Given the description of an element on the screen output the (x, y) to click on. 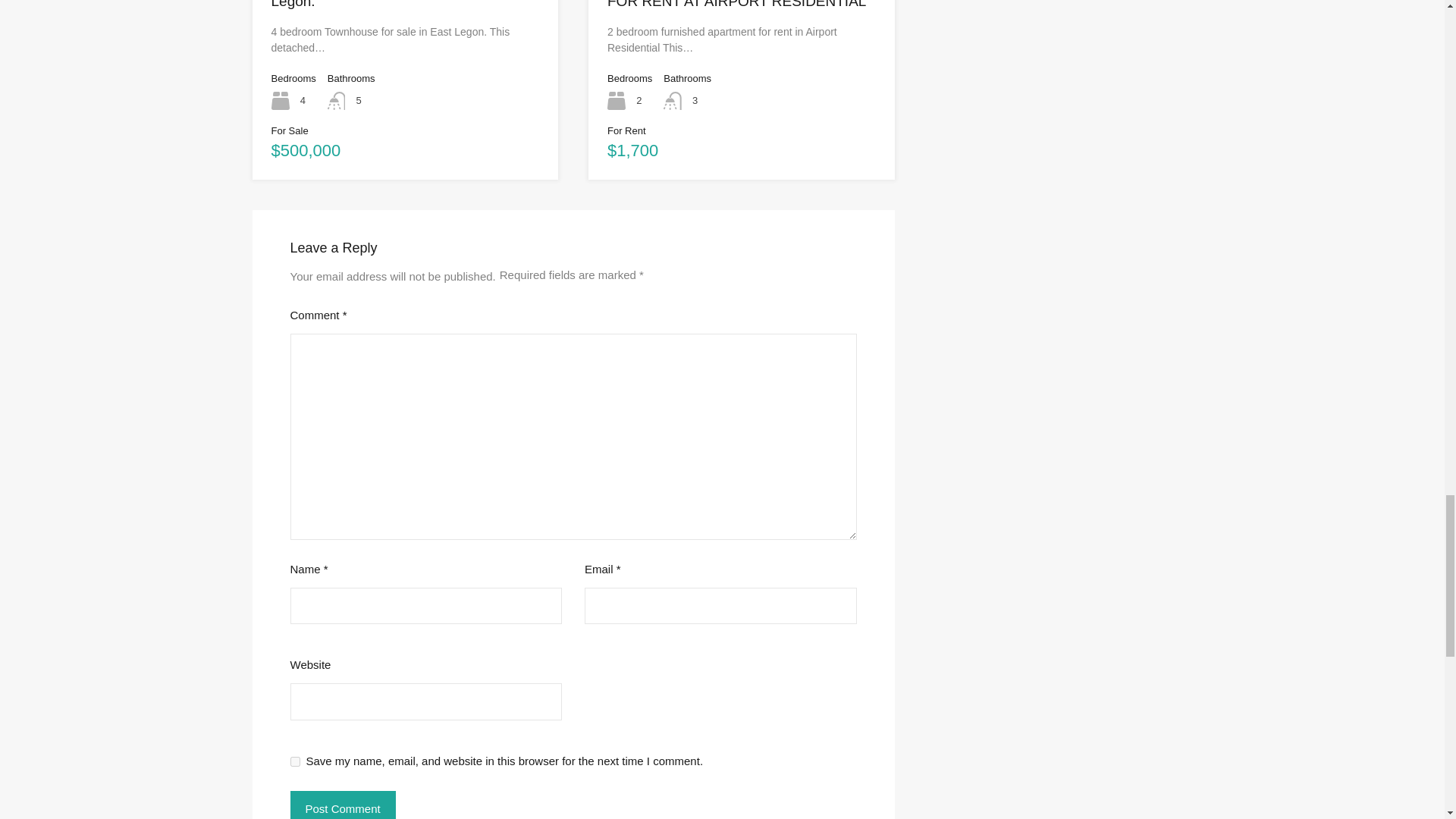
Post Comment (341, 805)
yes (294, 761)
